Given the description of an element on the screen output the (x, y) to click on. 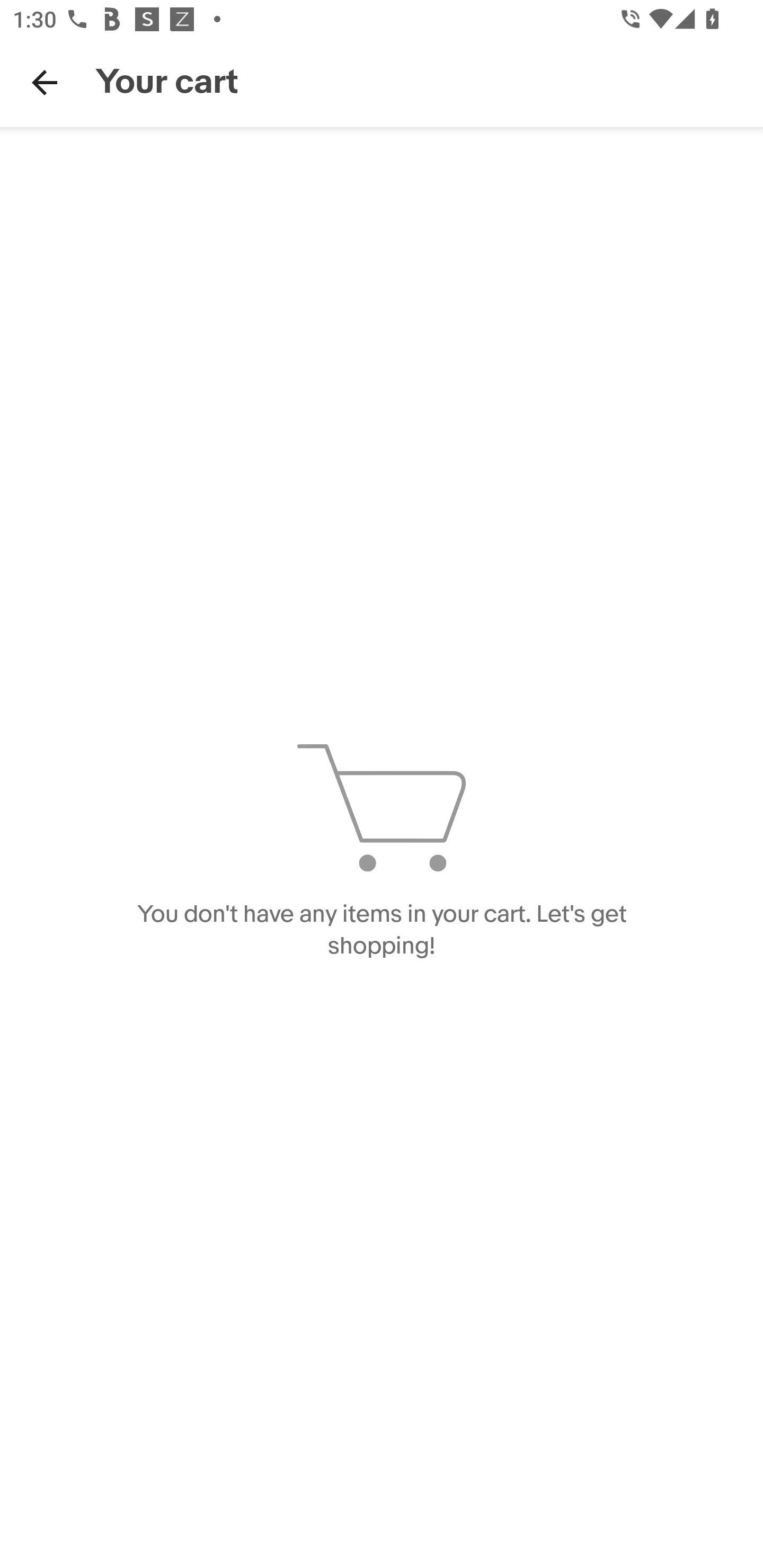
Navigate up (44, 82)
